Given the description of an element on the screen output the (x, y) to click on. 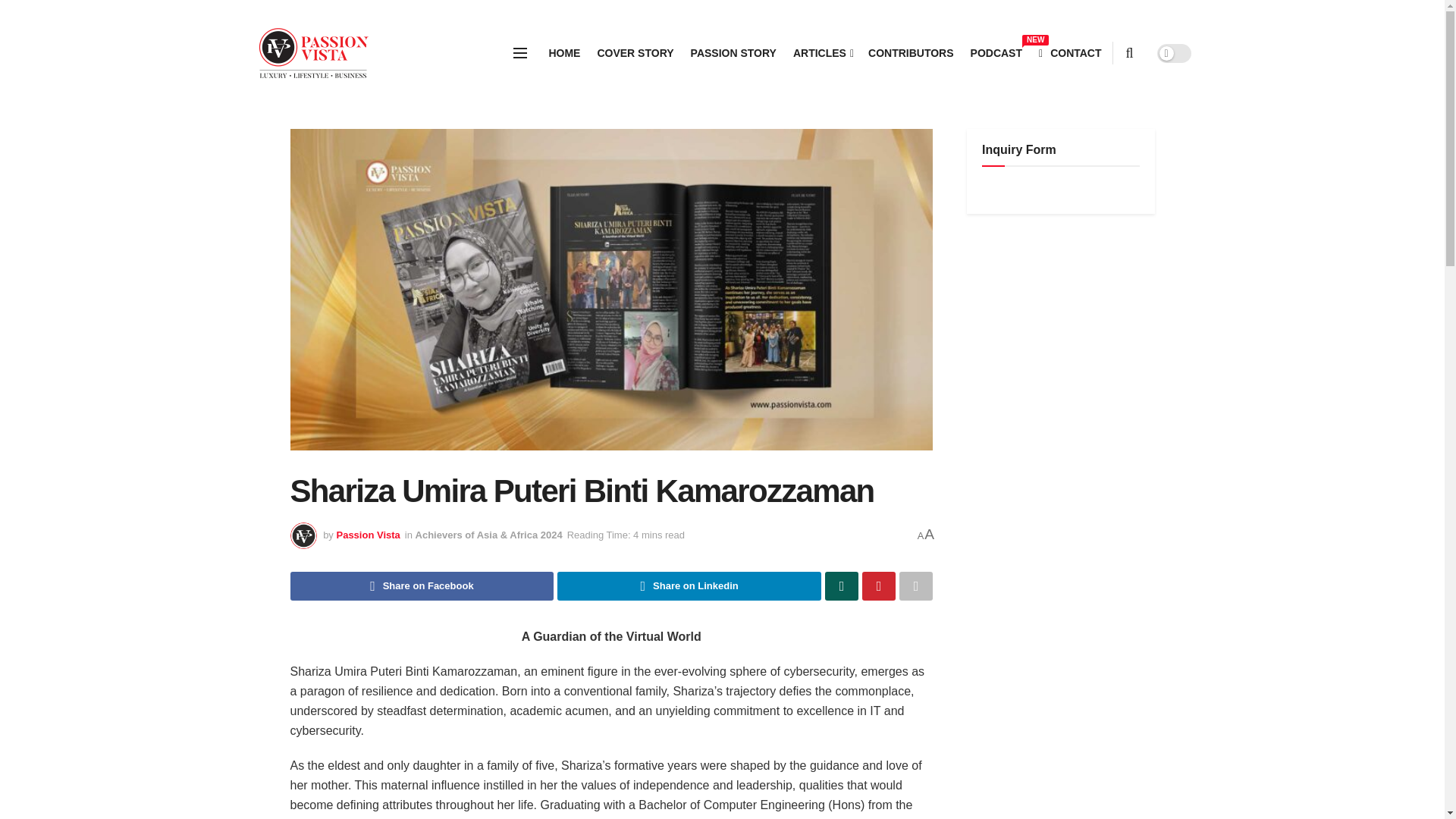
ARTICLES (996, 52)
CONTRIBUTORS (822, 52)
Share on Linkedin (910, 52)
Passion Vista (689, 585)
HOME (367, 534)
CONTACT (563, 52)
PASSION STORY (1070, 52)
COVER STORY (733, 52)
